Given the description of an element on the screen output the (x, y) to click on. 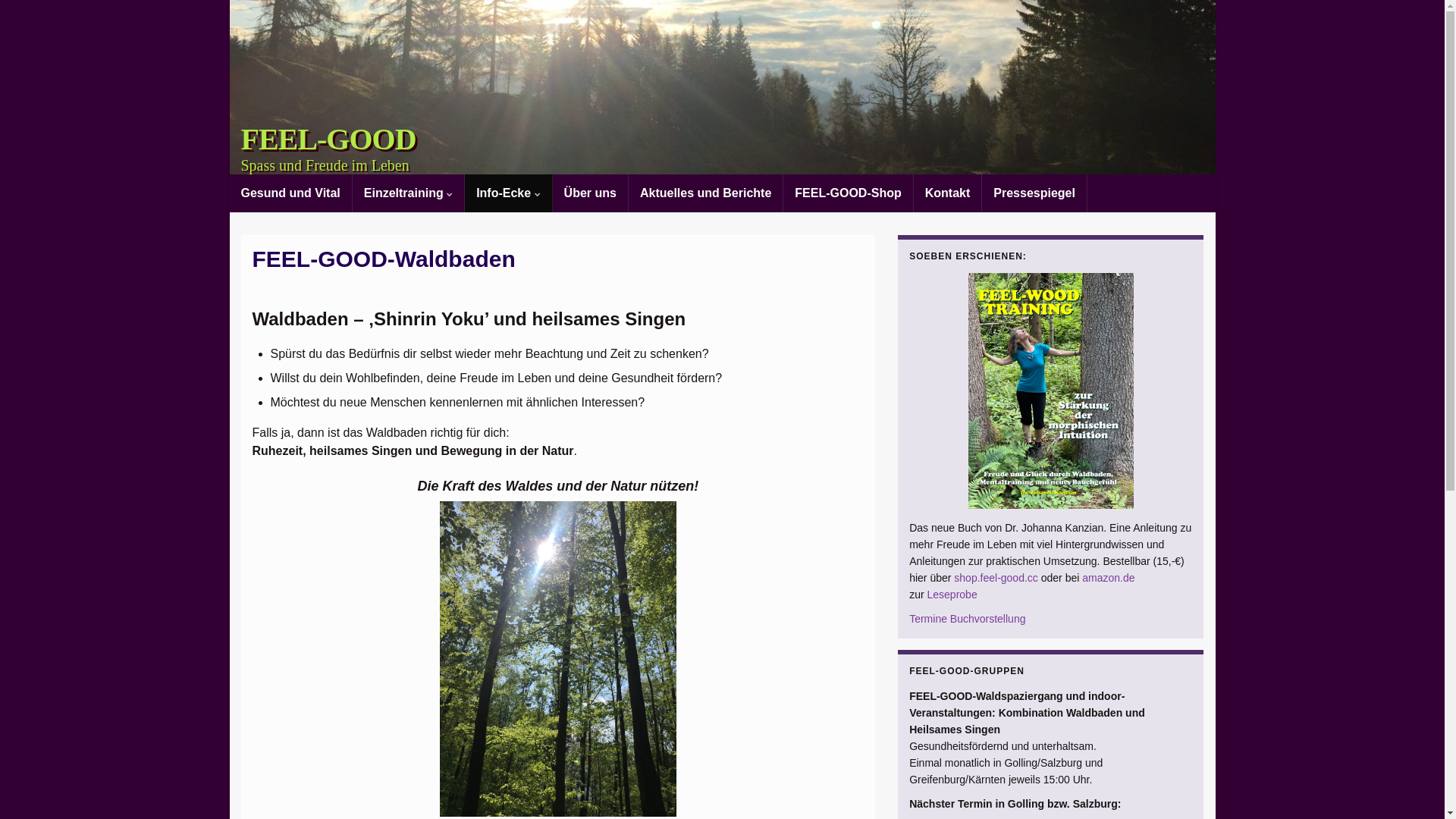
Gesund und Vital Element type: text (290, 193)
Termine Buchvorstellung Element type: text (967, 618)
Aktuelles und Berichte Element type: text (705, 193)
FEEL-GOOD Element type: text (328, 139)
amazon.de Element type: text (1108, 577)
Leseprobe Element type: text (951, 594)
shop.feel-good.cc Element type: text (995, 577)
FEEL-GOOD-Shop Element type: text (847, 193)
Einzeltraining Element type: text (408, 193)
Kontakt Element type: text (947, 193)
FEEL-GOOD  Element type: hover (721, 87)
Pressespiegel Element type: text (1034, 193)
Info-Ecke Element type: text (507, 193)
